Given the description of an element on the screen output the (x, y) to click on. 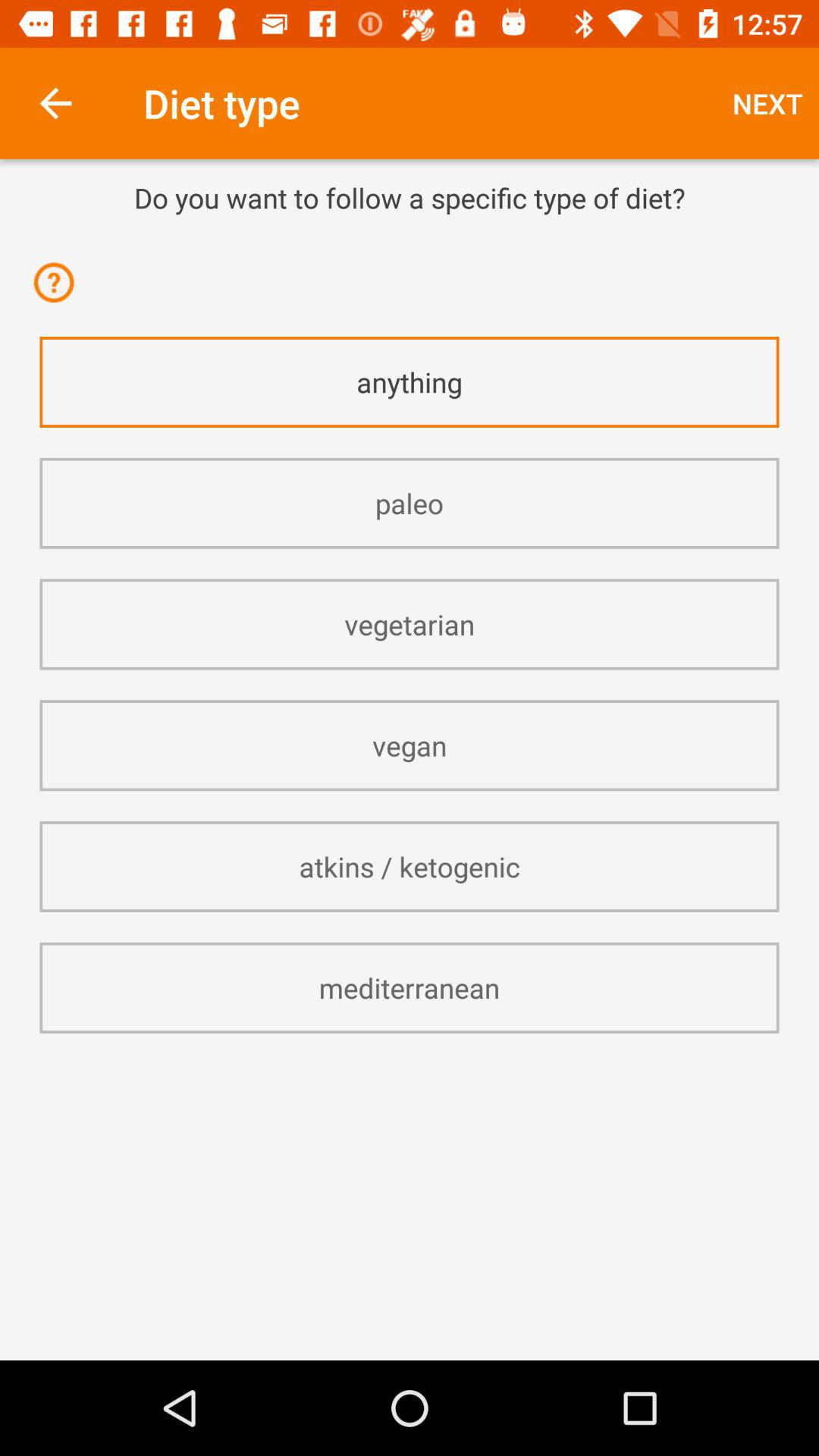
scroll until the paleo (409, 503)
